Given the description of an element on the screen output the (x, y) to click on. 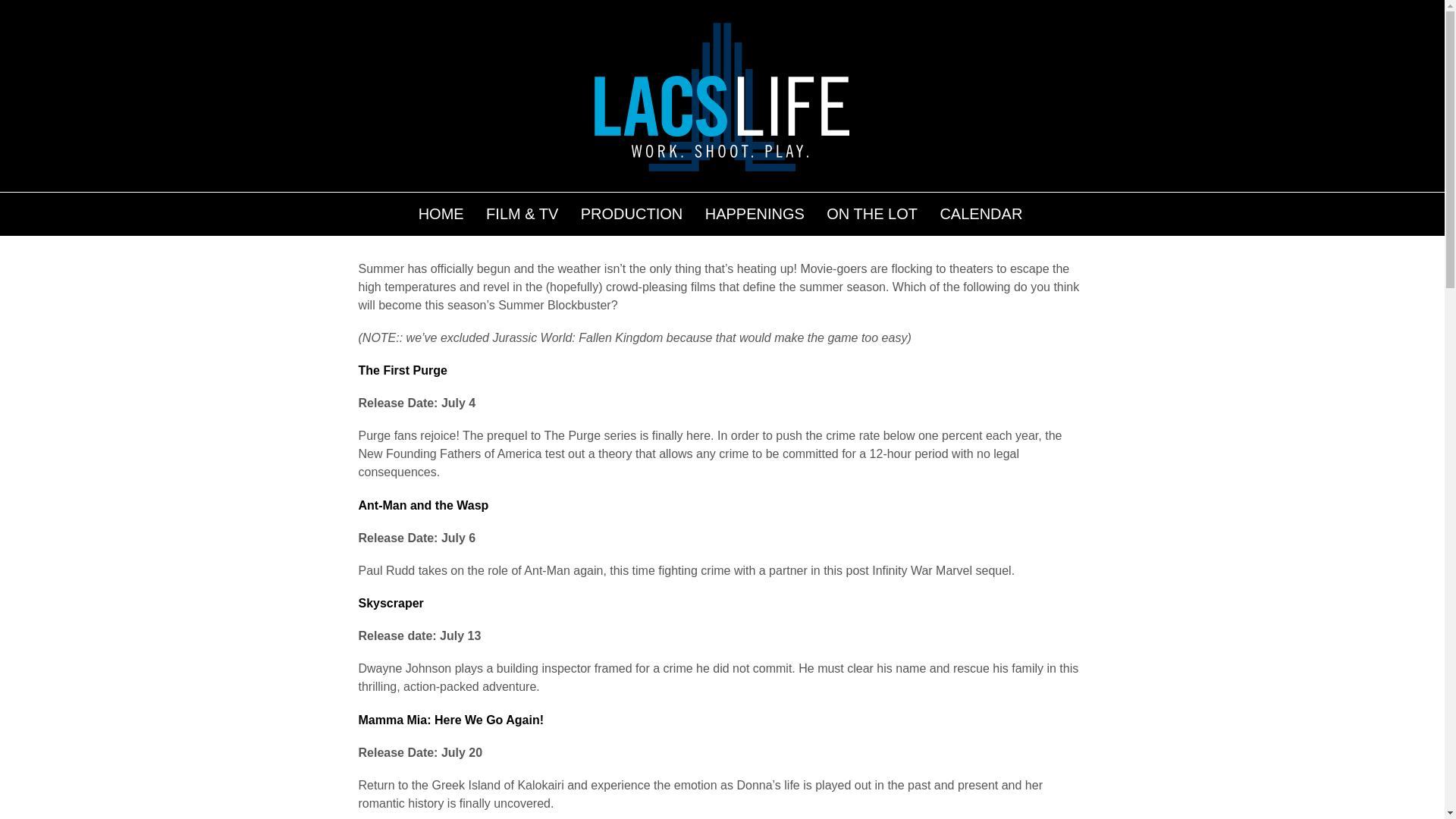
CALENDAR (980, 210)
The First Purge (402, 369)
HAPPENINGS (754, 210)
Mamma Mia: Here We Go Again! (450, 719)
HOME (441, 210)
PRODUCTION (631, 210)
Ant-Man and the Wasp (422, 504)
ON THE LOT (871, 210)
Posts (728, 209)
Skyscraper (390, 603)
